Given the description of an element on the screen output the (x, y) to click on. 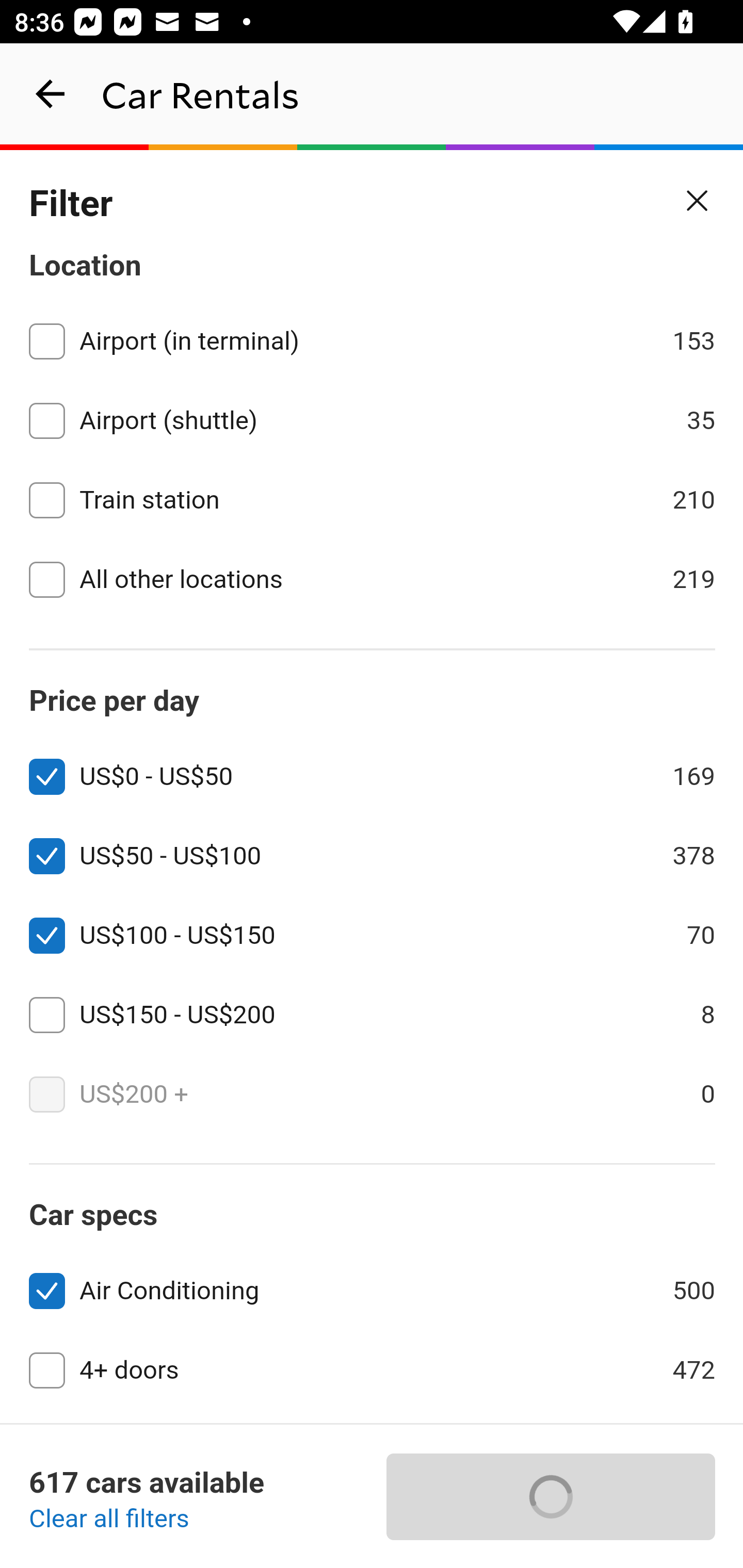
navigation_button (50, 93)
Close (697, 201)
Clear all filters (108, 1519)
